Given the description of an element on the screen output the (x, y) to click on. 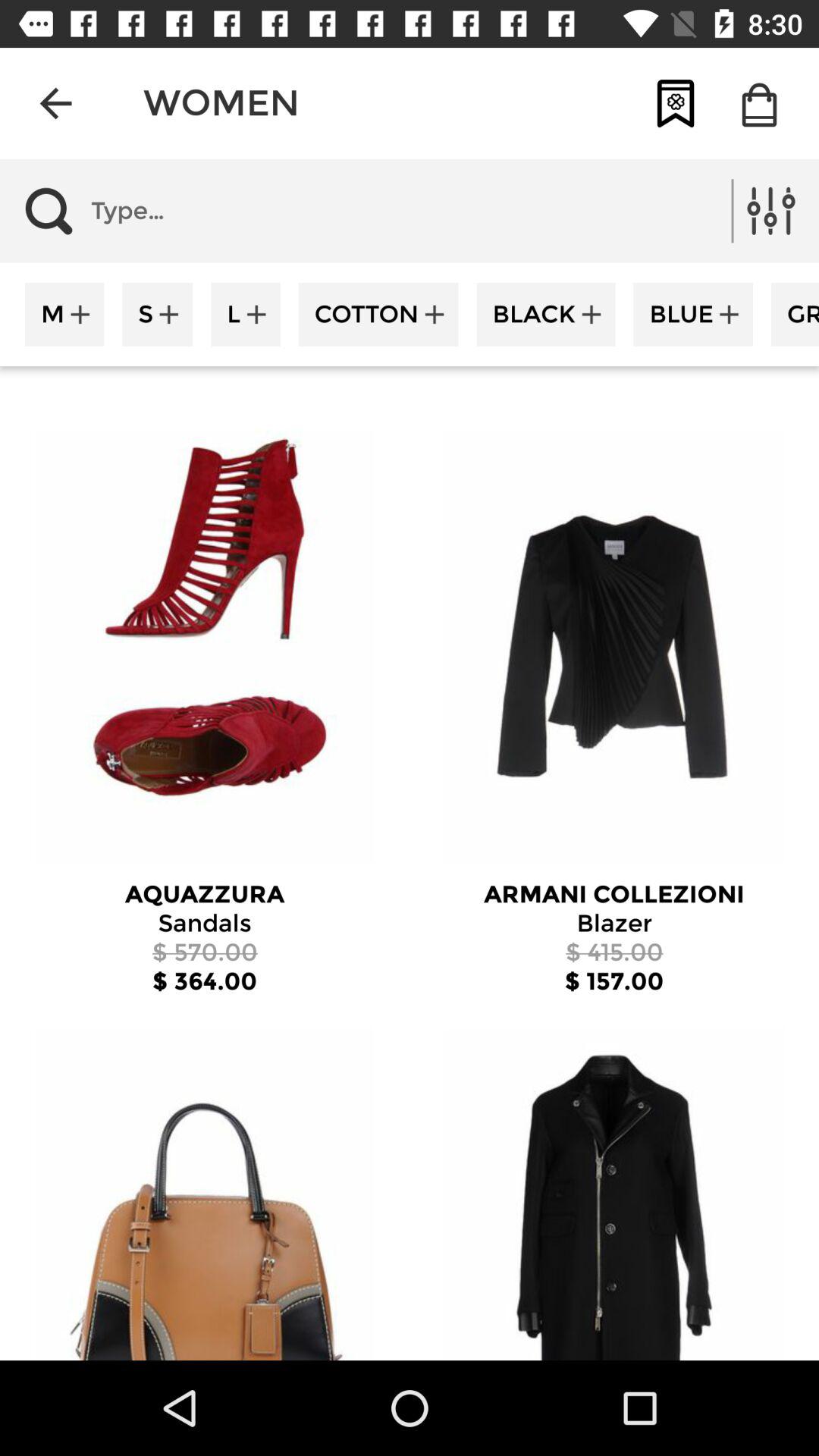
swipe to cotton icon (378, 314)
